Given the description of an element on the screen output the (x, y) to click on. 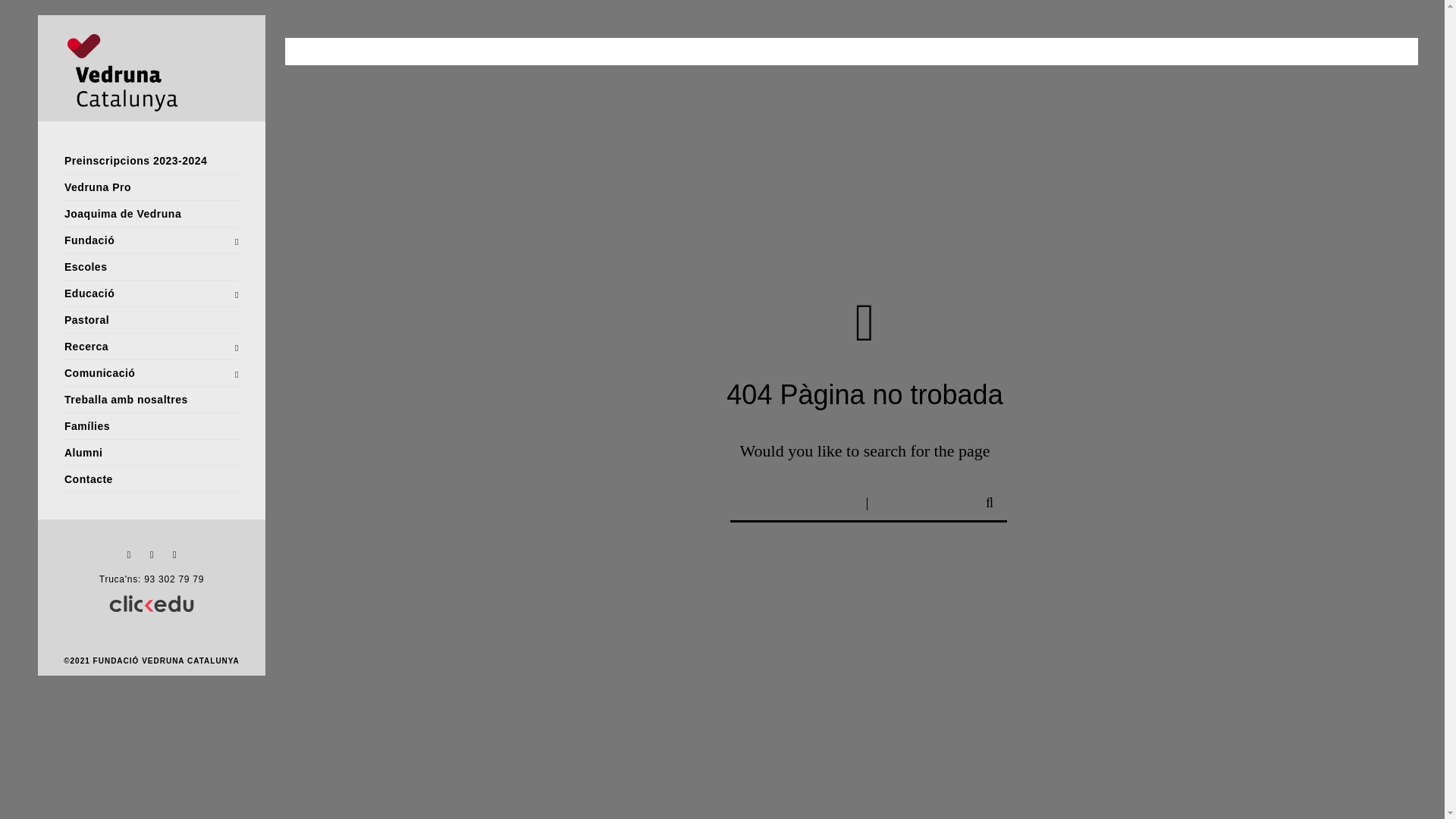
Vedruna Pro Element type: text (151, 187)
Truca'ns: 93 302 79 79 Element type: text (151, 579)
Twitter Element type: hover (128, 554)
Treballa amb nosaltres Element type: text (151, 399)
Joaquima de Vedruna Element type: text (151, 213)
Recerca Element type: text (151, 346)
Instagram Element type: hover (174, 554)
Escoles Element type: text (151, 267)
Pastoral Element type: text (151, 320)
Youtube Element type: hover (151, 554)
Alumni Element type: text (151, 452)
Preinscripcions 2023-2024 Element type: text (151, 160)
Search Element type: hover (985, 500)
Contacte Element type: text (151, 479)
